Given the description of an element on the screen output the (x, y) to click on. 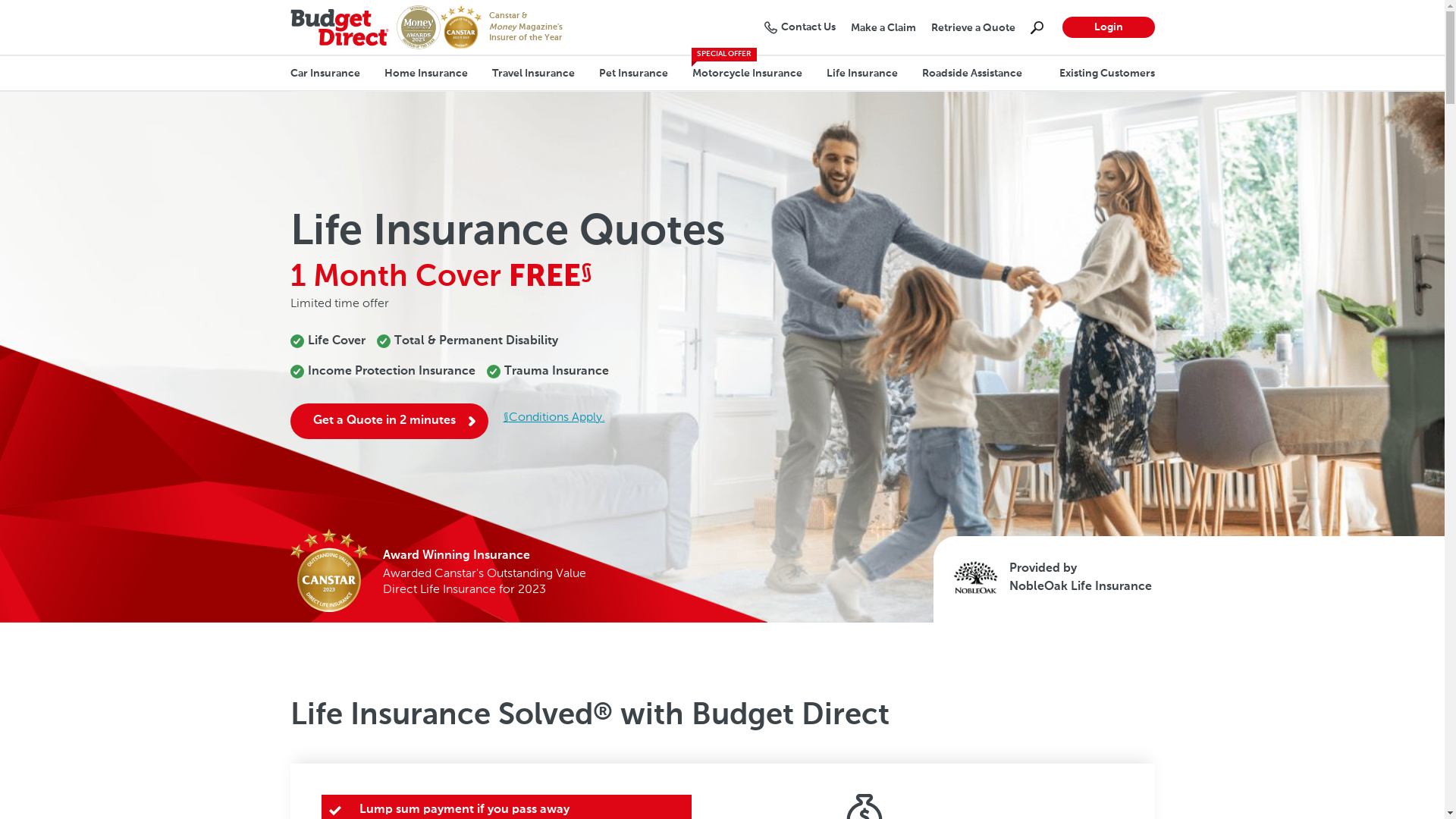
Make a Claim Element type: text (883, 27)
Login Element type: text (1107, 26)
Get a Quote in 2 minutes Element type: hover (471, 421)
Car Insurance Element type: text (330, 73)
Motorcycle Insurance Element type: text (746, 73)
Money Magazine's Insurer of the Year 2023 Element type: hover (417, 27)
Life Insurance Element type: text (862, 73)
Get a Quote in 2 minutes Element type: text (388, 421)
CANSTAR's Insurer of the Year 2023 Element type: hover (459, 27)
CANSTAR's Outstanding Value Car Insurance Australia 2023 Element type: hover (328, 569)
Home Insurance Element type: text (425, 73)
Search Element type: hover (1035, 27)
Contact Us Element type: text (799, 27)
Existing Customers Element type: text (1106, 73)
Pet Insurance Element type: text (633, 73)
Contact Us Element type: hover (770, 27)
Travel Insurance Element type: text (532, 73)
NobleOak Logo Element type: hover (974, 577)
Budget Direct Logo Element type: hover (338, 27)
Retrieve a Quote Element type: text (973, 27)
Roadside Assistance Element type: text (966, 73)
